Given the description of an element on the screen output the (x, y) to click on. 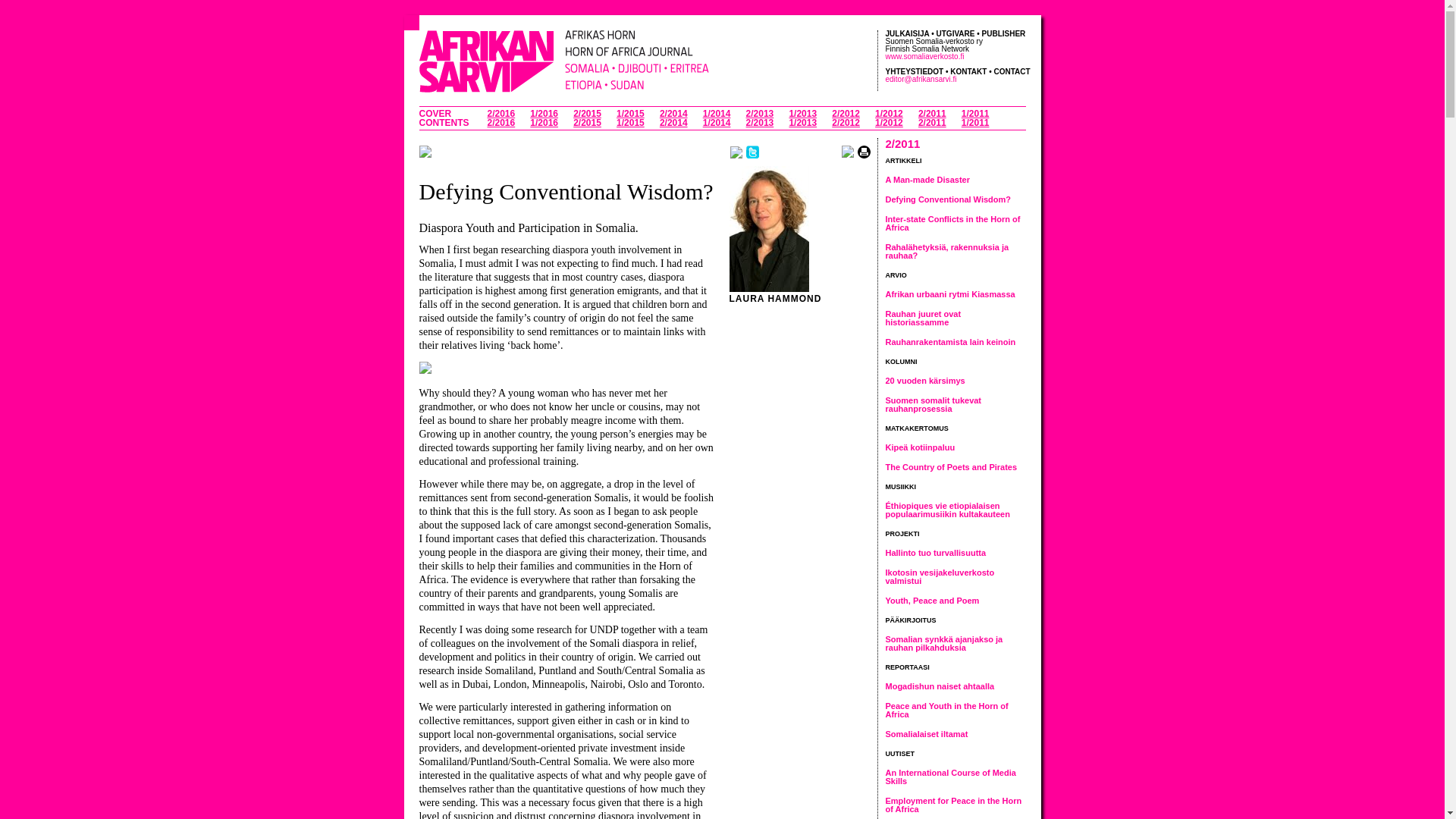
Rauhanrakentamista lain keinoin (950, 341)
Hallinto tuo turvallisuutta (936, 552)
The Country of Poets and Pirates (951, 466)
Suomen somalit tukevat rauhanprosessia (933, 404)
A Man-made Disaster (927, 179)
Rauhan juuret ovat historiassamme (922, 317)
Afrikan urbaani rytmi Kiasmassa (949, 293)
Defying Conventional Wisdom? (948, 198)
Inter-state Conflicts in the Horn of Africa (952, 222)
www.somaliaverkosto.fi (924, 56)
